Given the description of an element on the screen output the (x, y) to click on. 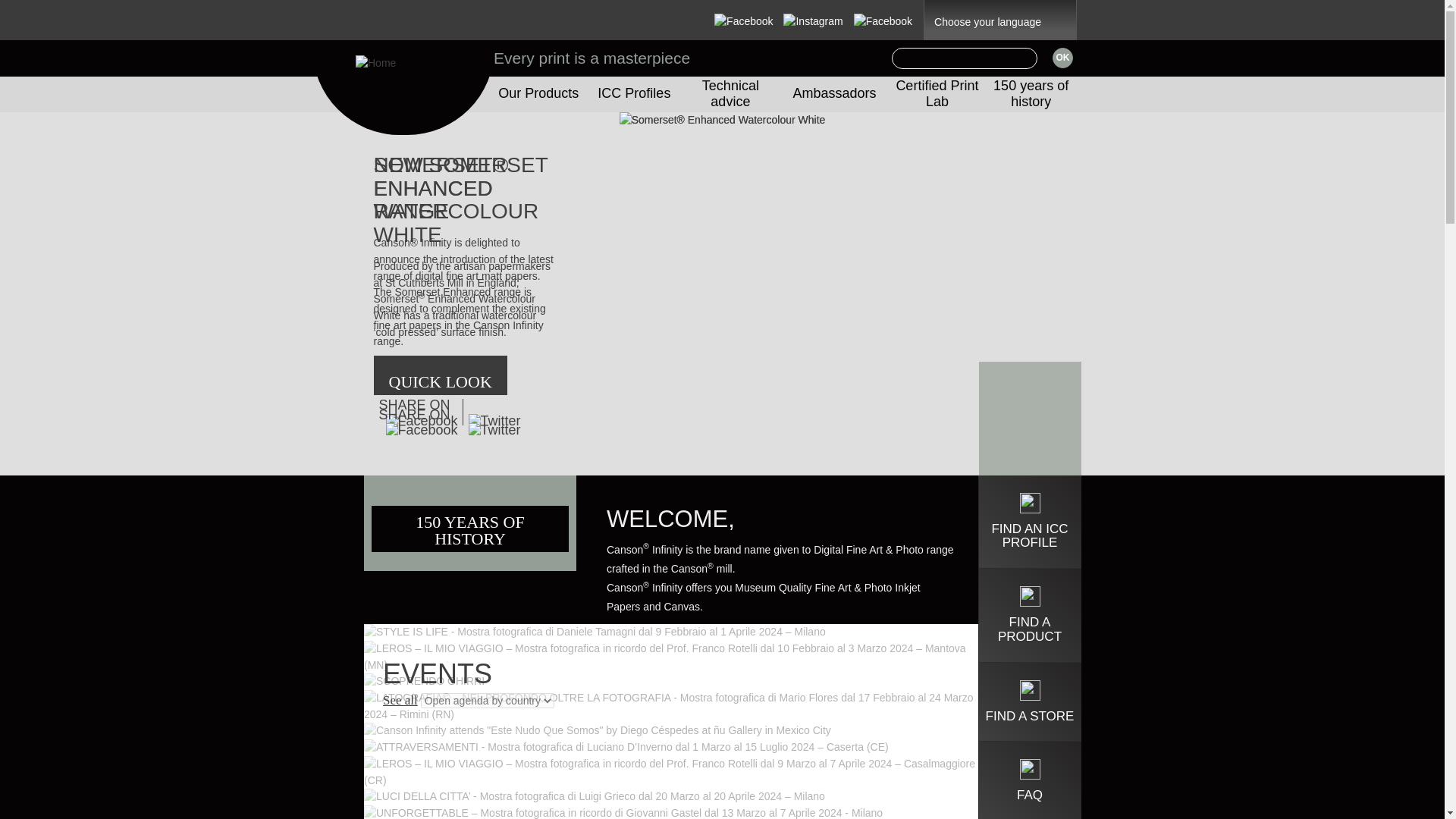
OK (1062, 57)
150 years of history (1030, 93)
QUICK LOOK (439, 369)
OK (1062, 57)
ICC Profiles (632, 92)
Enter the terms you wish to search for. (963, 57)
Ambassadors (834, 92)
